Given the description of an element on the screen output the (x, y) to click on. 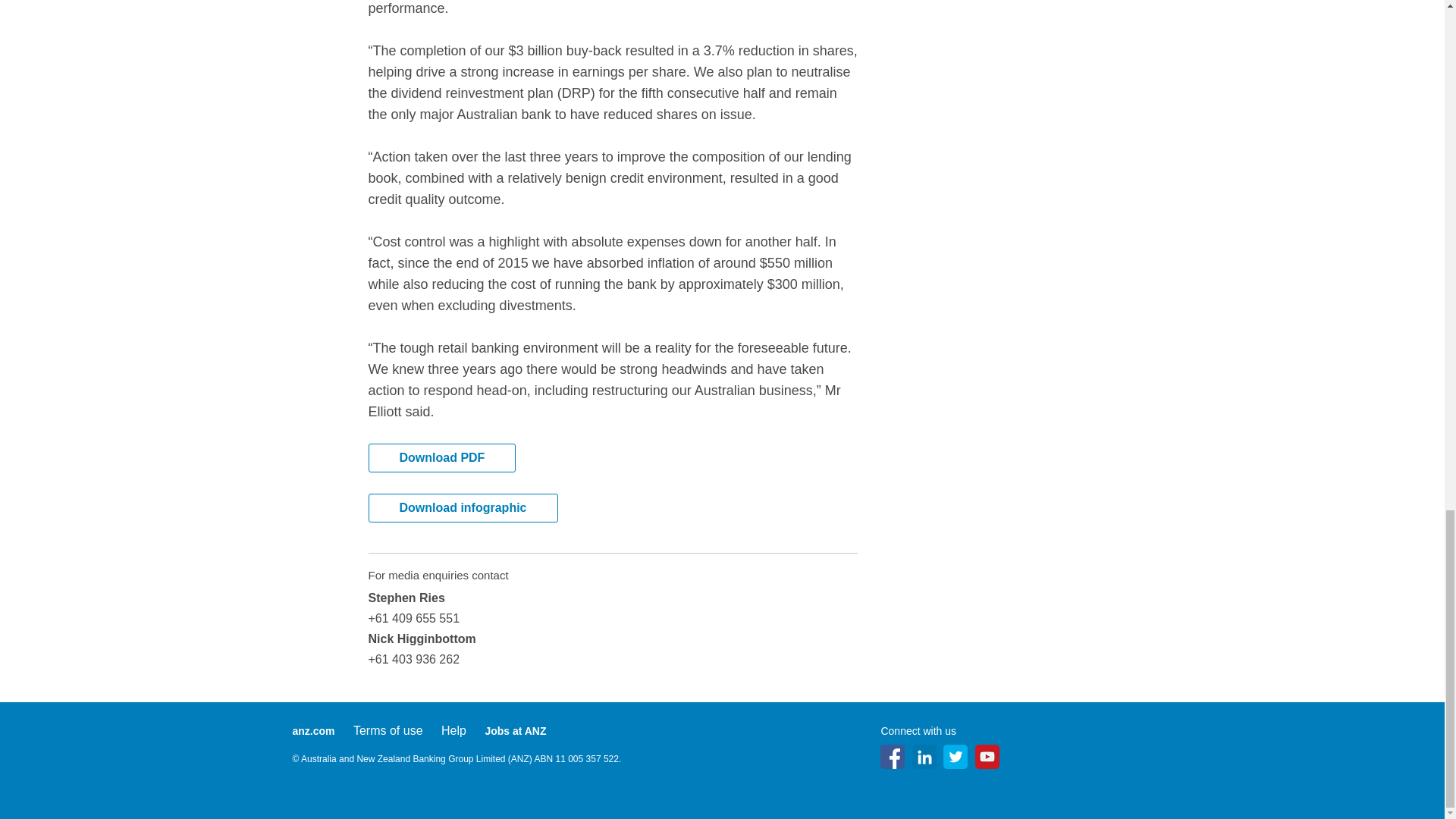
anz.com (313, 730)
Connect on LinkedIn (924, 756)
Visit us on Facebook (892, 756)
Jobs at ANZ (515, 730)
See more on YouTube (986, 756)
anz.com (313, 730)
Download PDF (442, 457)
Jobs at ANZ (515, 730)
Tweet us on Twitter (955, 756)
Download infographic (462, 507)
